Given the description of an element on the screen output the (x, y) to click on. 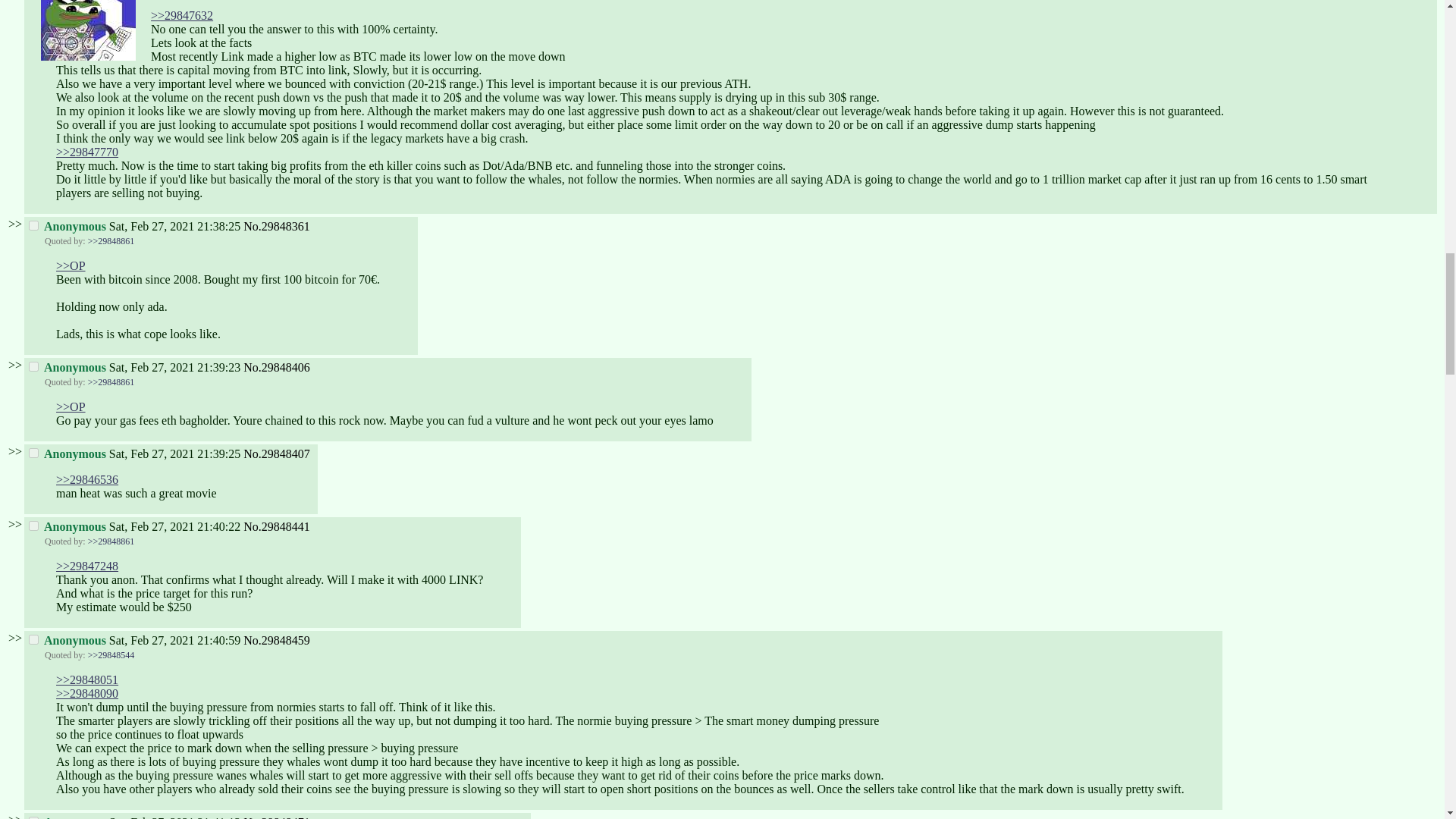
1614433273000 (174, 817)
29848361,0 (34, 225)
1614433222000 (174, 526)
29848407,0 (34, 452)
1614433105000 (174, 226)
1614433165000 (174, 453)
1614433163000 (174, 367)
29848406,0 (34, 366)
1614433259000 (174, 640)
29848441,0 (34, 525)
